Given the description of an element on the screen output the (x, y) to click on. 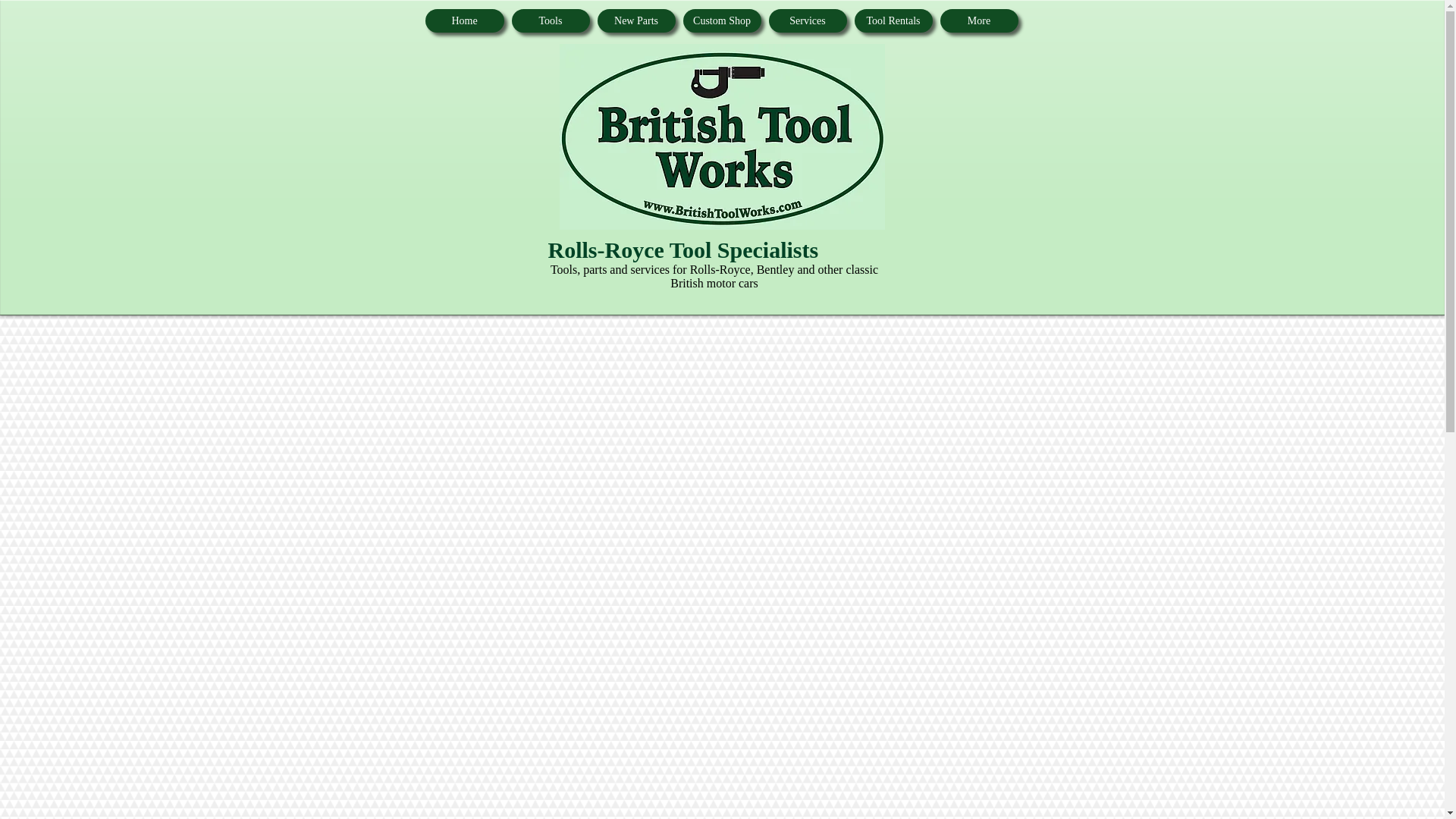
New Parts (635, 20)
Tool Rentals (892, 20)
Custom Shop (721, 20)
Home (464, 20)
Services (807, 20)
Tools (550, 20)
